Given the description of an element on the screen output the (x, y) to click on. 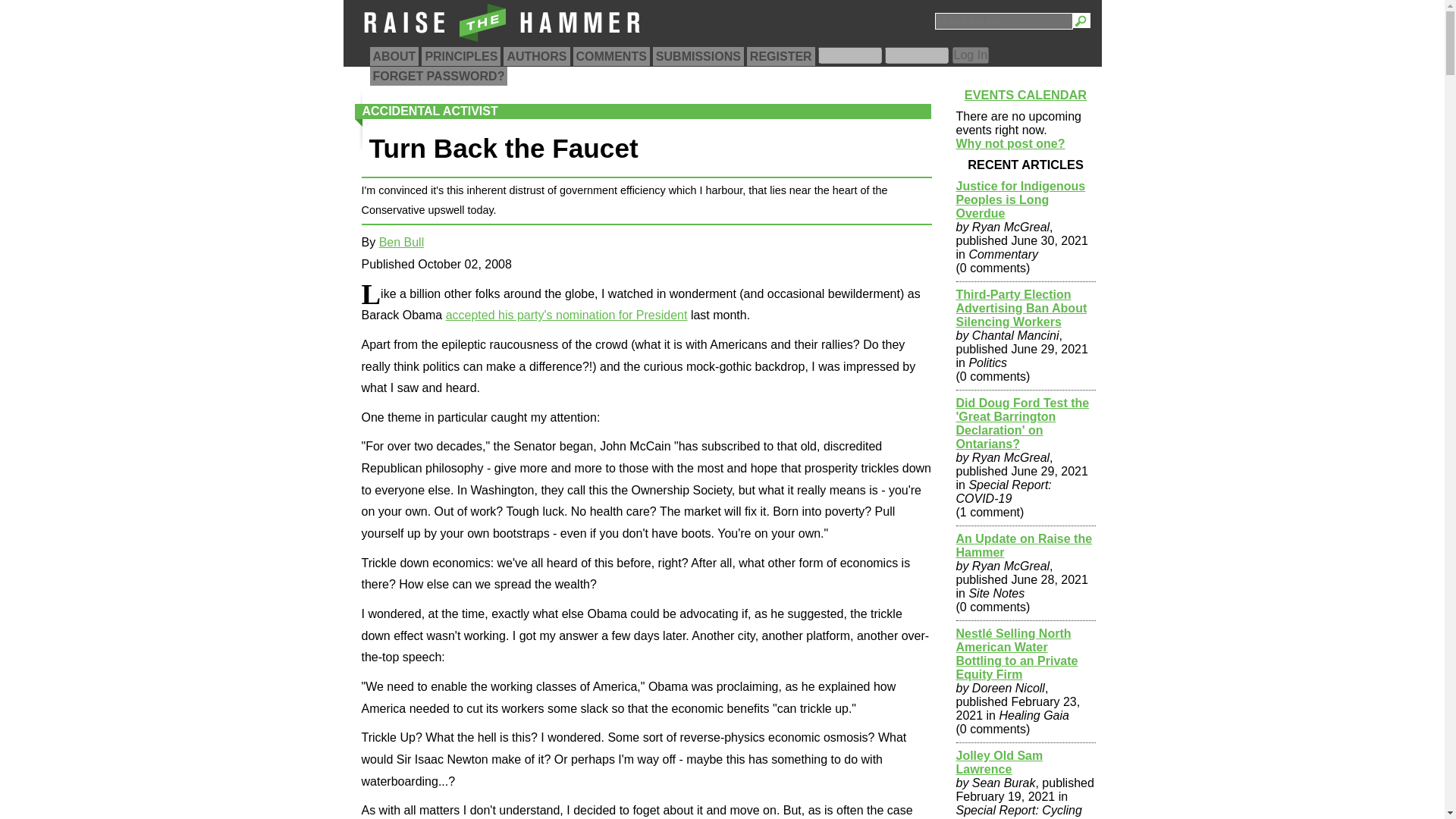
accepted his party's nomination for President (566, 314)
Core principles of RTH (461, 56)
ACCIDENTAL ACTIVIST (429, 110)
Raise the Hammer (502, 41)
AUTHORS (536, 56)
Recent comments (611, 56)
Submit an article for publication (698, 56)
See archive for Ben Bull (401, 241)
FORGET PASSWORD? (438, 75)
COMMENTS (611, 56)
About Raise the Hammer (394, 56)
PRINCIPLES (461, 56)
Contributors to the site (536, 56)
SUBMISSIONS (698, 56)
Ben Bull (401, 241)
